Given the description of an element on the screen output the (x, y) to click on. 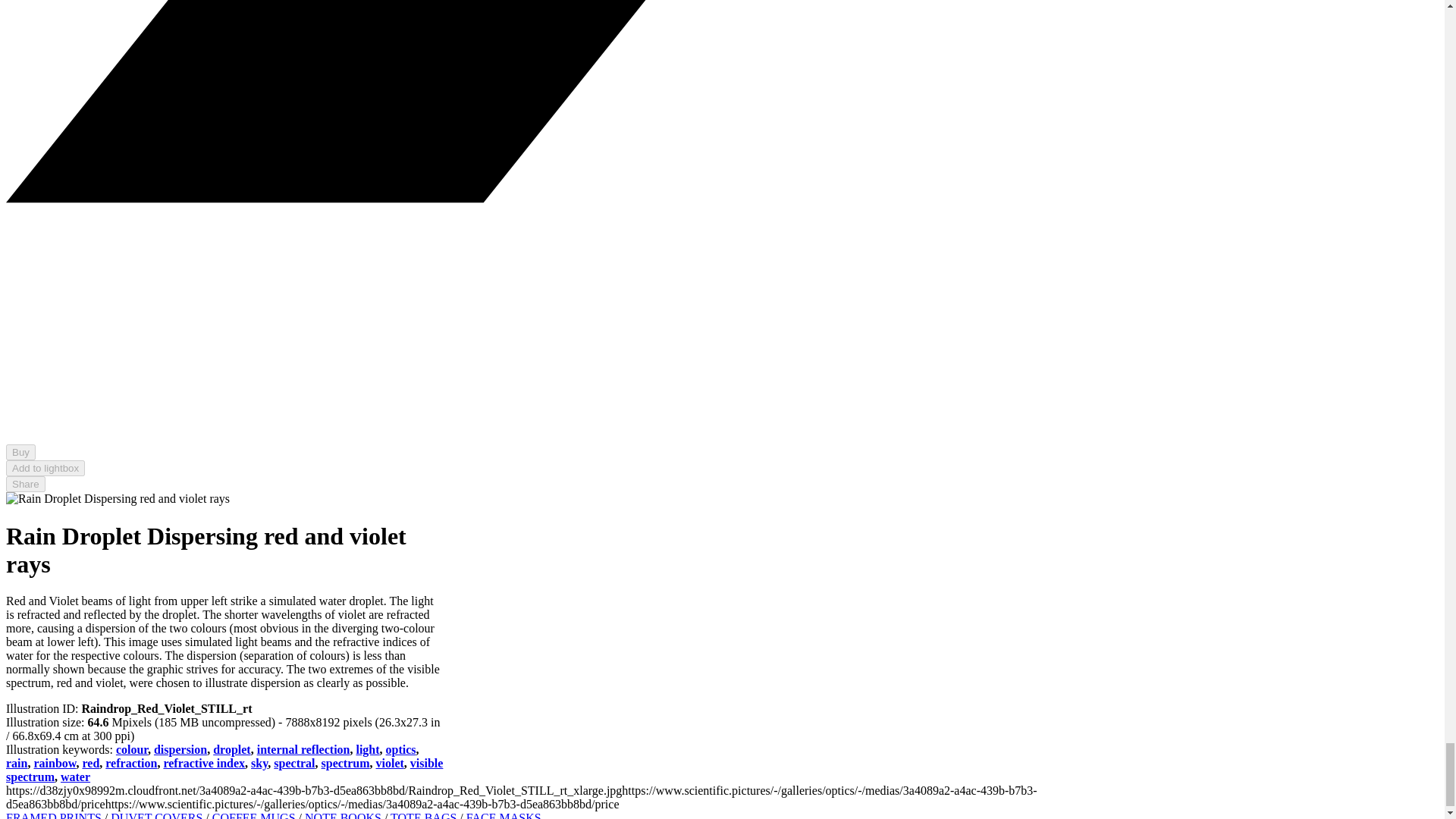
Add to lightbox (44, 467)
Buy (19, 452)
Buy (19, 452)
Share (25, 483)
Add to lightbox (44, 467)
colour (132, 748)
Share (25, 483)
